Given the description of an element on the screen output the (x, y) to click on. 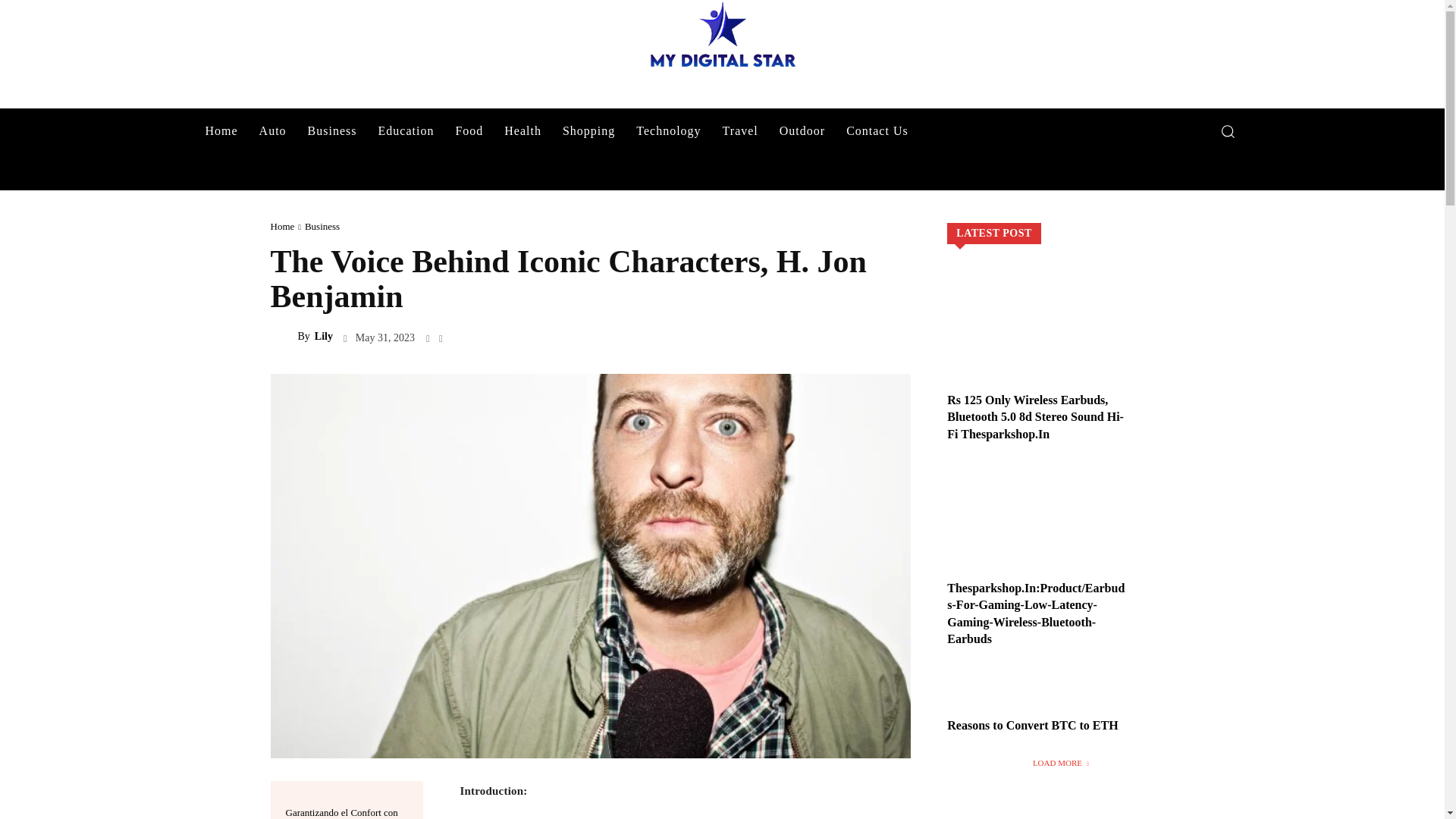
Home (220, 130)
View all posts in Business (321, 225)
Technology (668, 130)
Travel (739, 130)
Contact Us (876, 130)
Auto (272, 130)
Lily (283, 336)
Food (468, 130)
Business (332, 130)
